Given the description of an element on the screen output the (x, y) to click on. 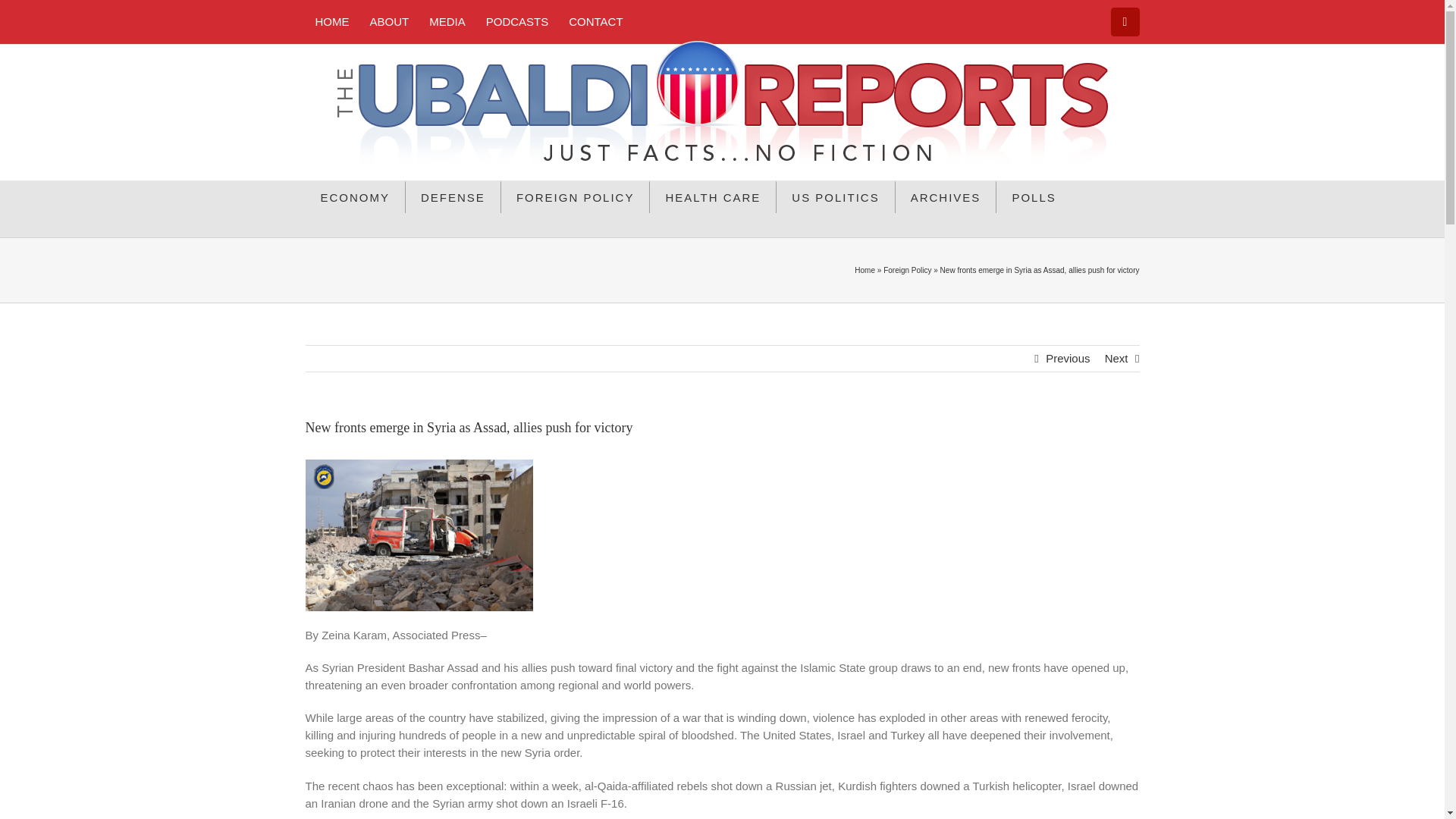
About Ubaldi (389, 21)
ARCHIVES (946, 196)
Next (1116, 358)
MEDIA (447, 21)
HEALTH CARE (712, 196)
Foreign Policy (907, 270)
DEFENSE (453, 196)
HOME (331, 21)
Previous (1067, 358)
US POLITICS (835, 196)
ECONOMY (355, 196)
FOREIGN POLICY (575, 196)
CONTACT (595, 21)
POLLS (1032, 196)
PODCASTS (517, 21)
